Given the description of an element on the screen output the (x, y) to click on. 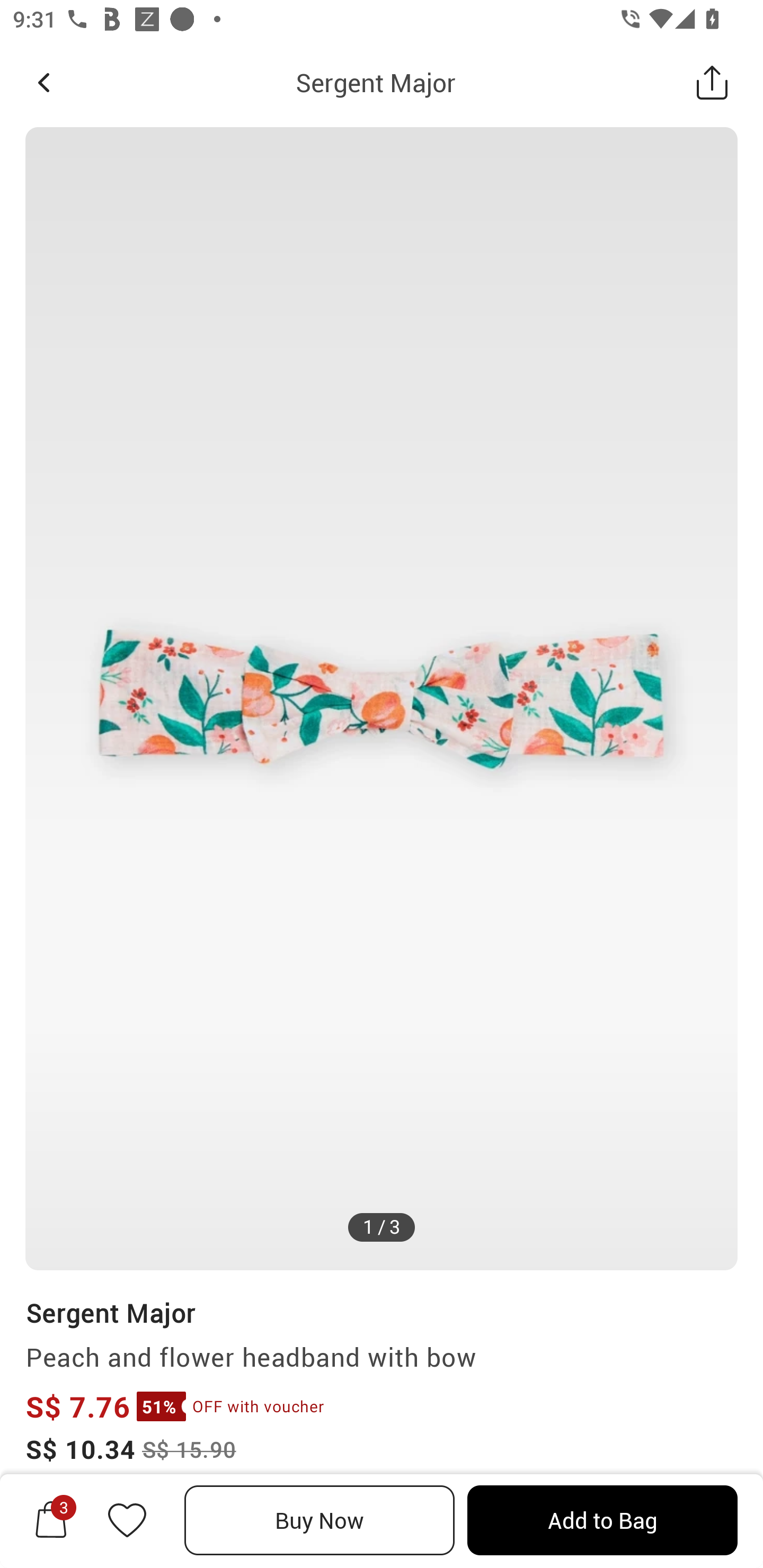
Sergent Major (375, 82)
Share this Product (711, 82)
Sergent Major (110, 1312)
Buy Now (319, 1519)
Add to Bag (601, 1519)
3 (50, 1520)
